Given the description of an element on the screen output the (x, y) to click on. 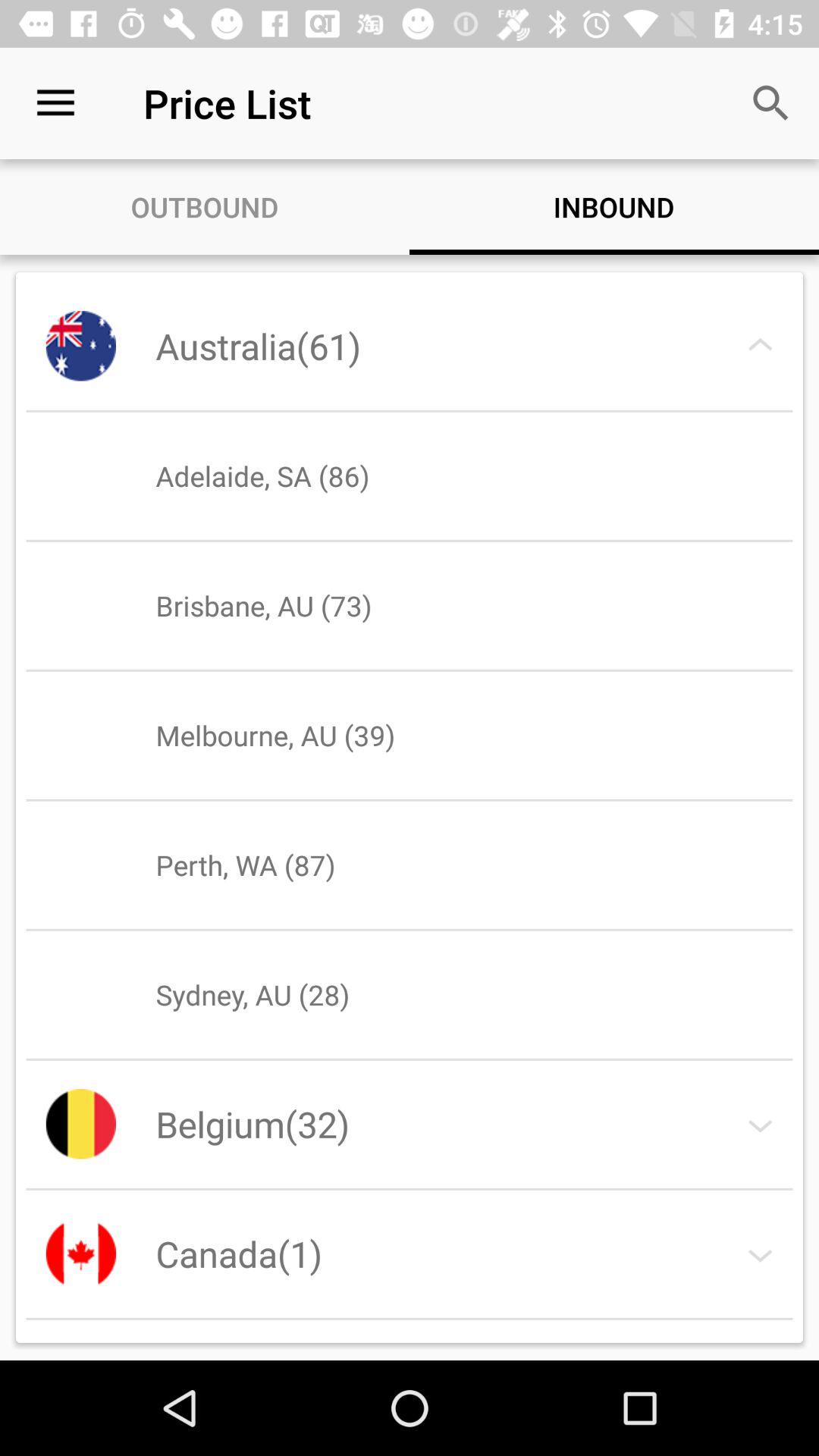
open the item to the right of the price list (771, 103)
